Given the description of an element on the screen output the (x, y) to click on. 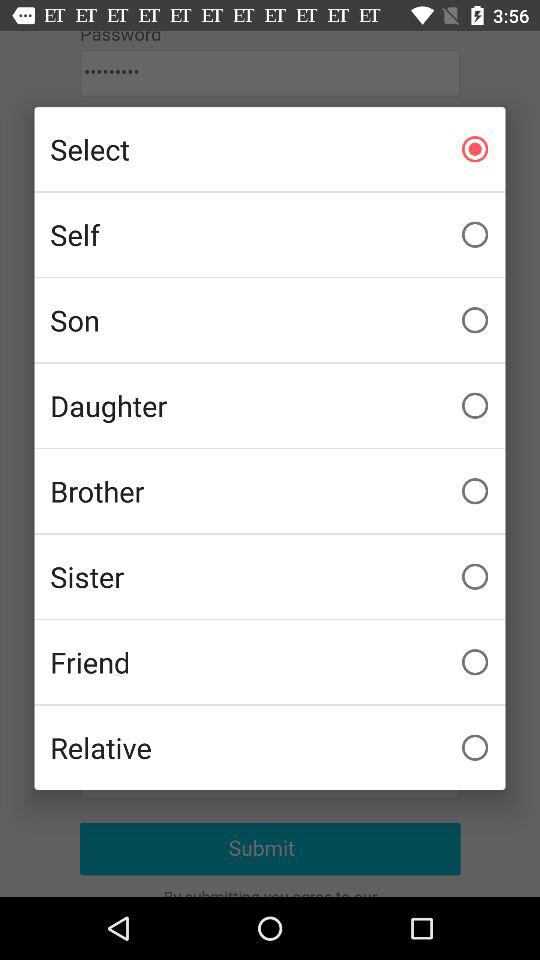
click checkbox below friend (269, 747)
